Given the description of an element on the screen output the (x, y) to click on. 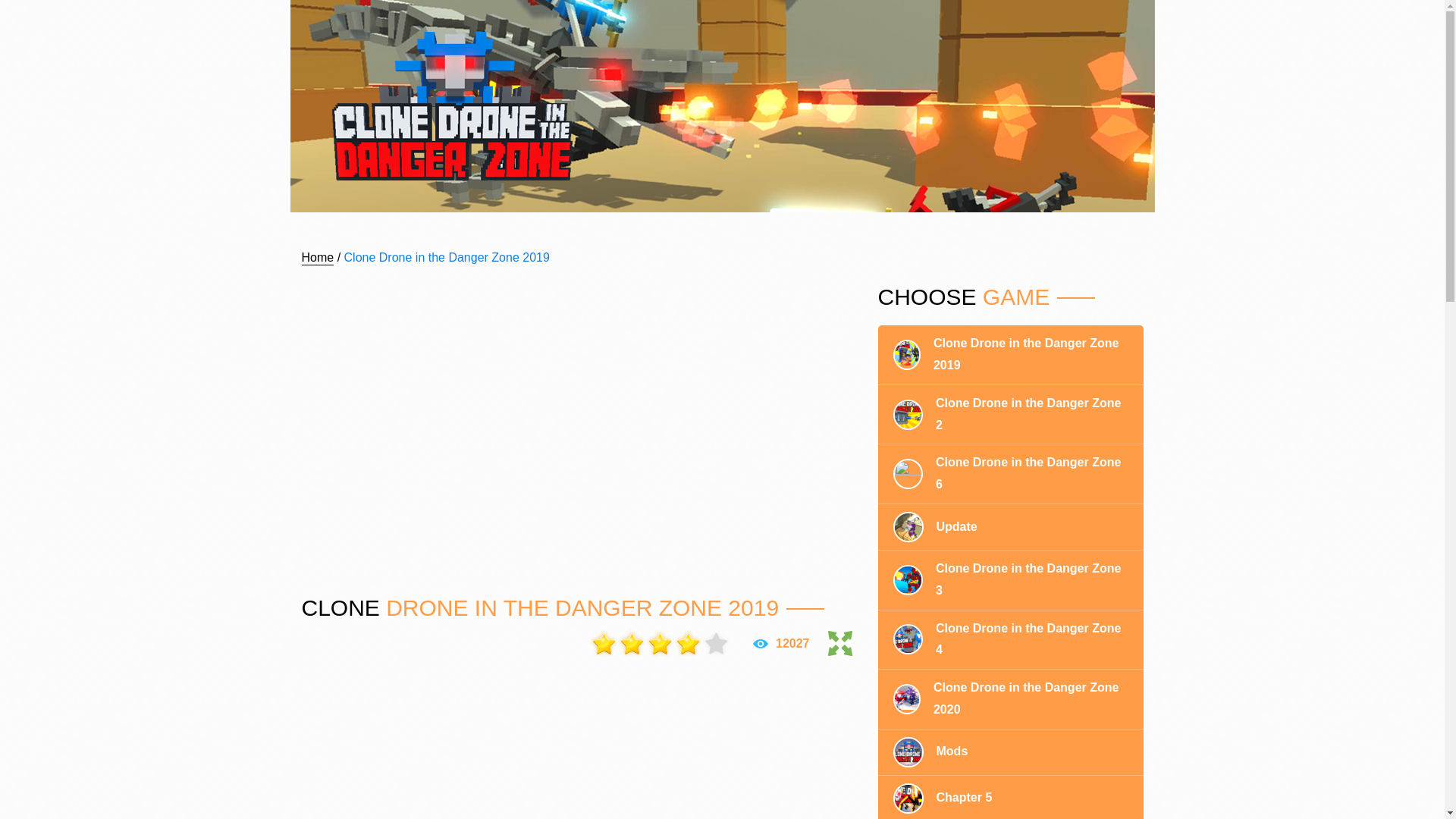
Home (317, 257)
Mods (1009, 752)
Clone Drone in the Danger Zone 2 (1009, 414)
Clone Drone in the Danger Zone 2019 (1009, 354)
Update (1009, 527)
Clone Drone in the Danger Zone 3 (1009, 580)
Advertisement (577, 427)
Clone Drone in the Danger Zone 6 (1009, 474)
Clone Drone in the Danger Zone 4 (1009, 640)
